Given the description of an element on the screen output the (x, y) to click on. 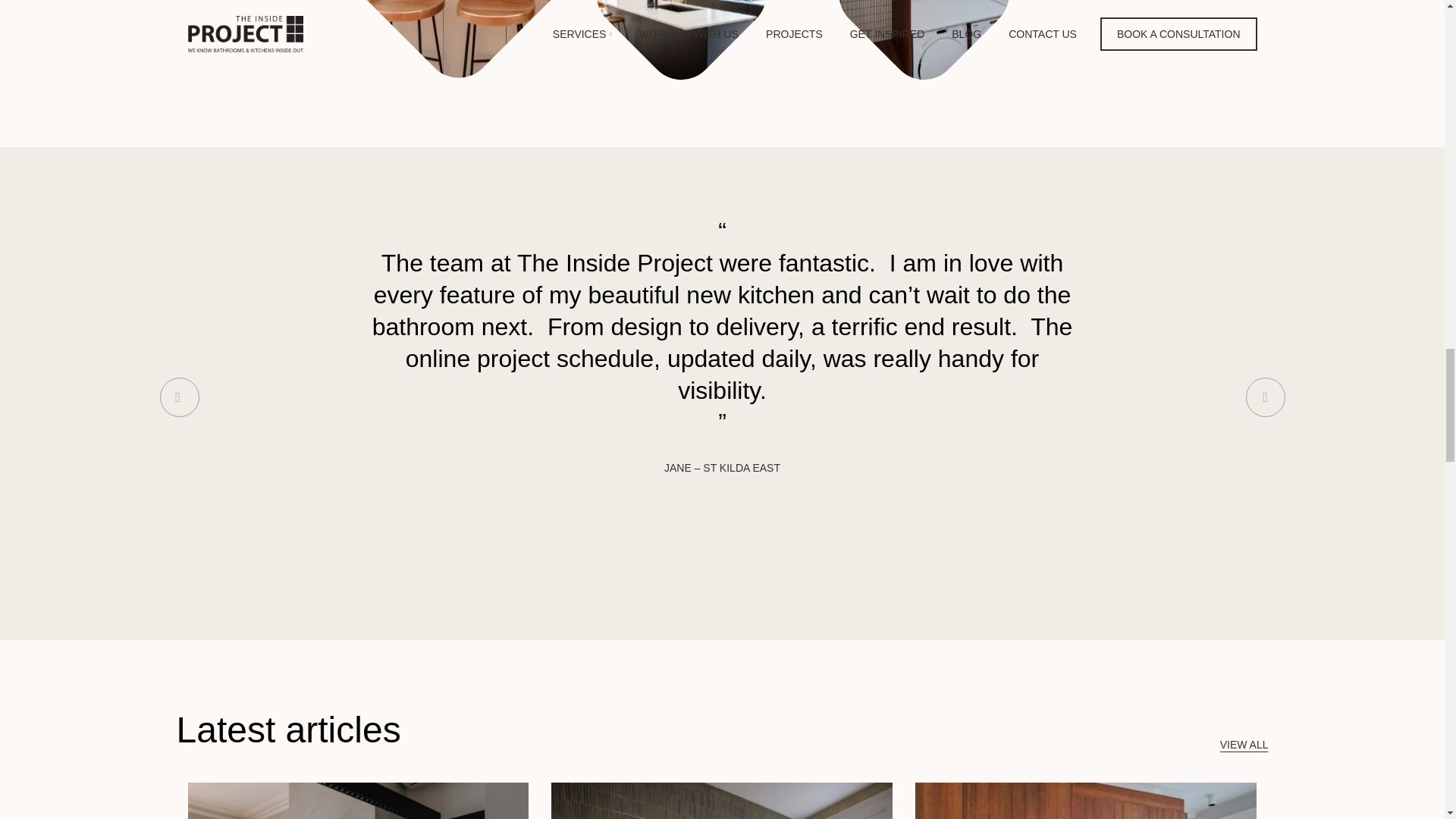
Kitchen Renovation Williamstown (458, 39)
Laundry Renovation Surrey Hills (923, 47)
